Given the description of an element on the screen output the (x, y) to click on. 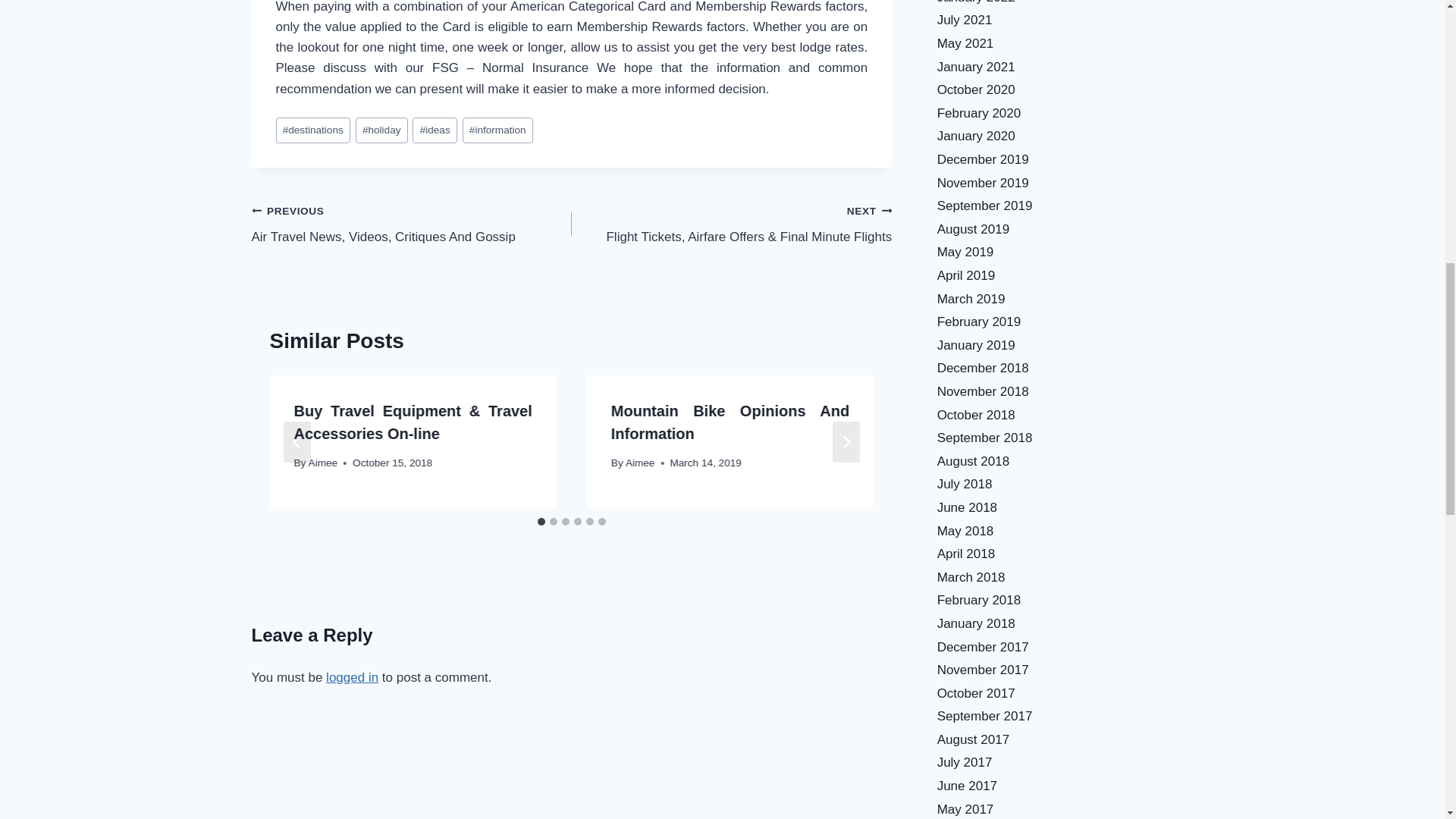
holiday (381, 130)
destinations (313, 130)
ideas (434, 130)
information (497, 130)
